Given the description of an element on the screen output the (x, y) to click on. 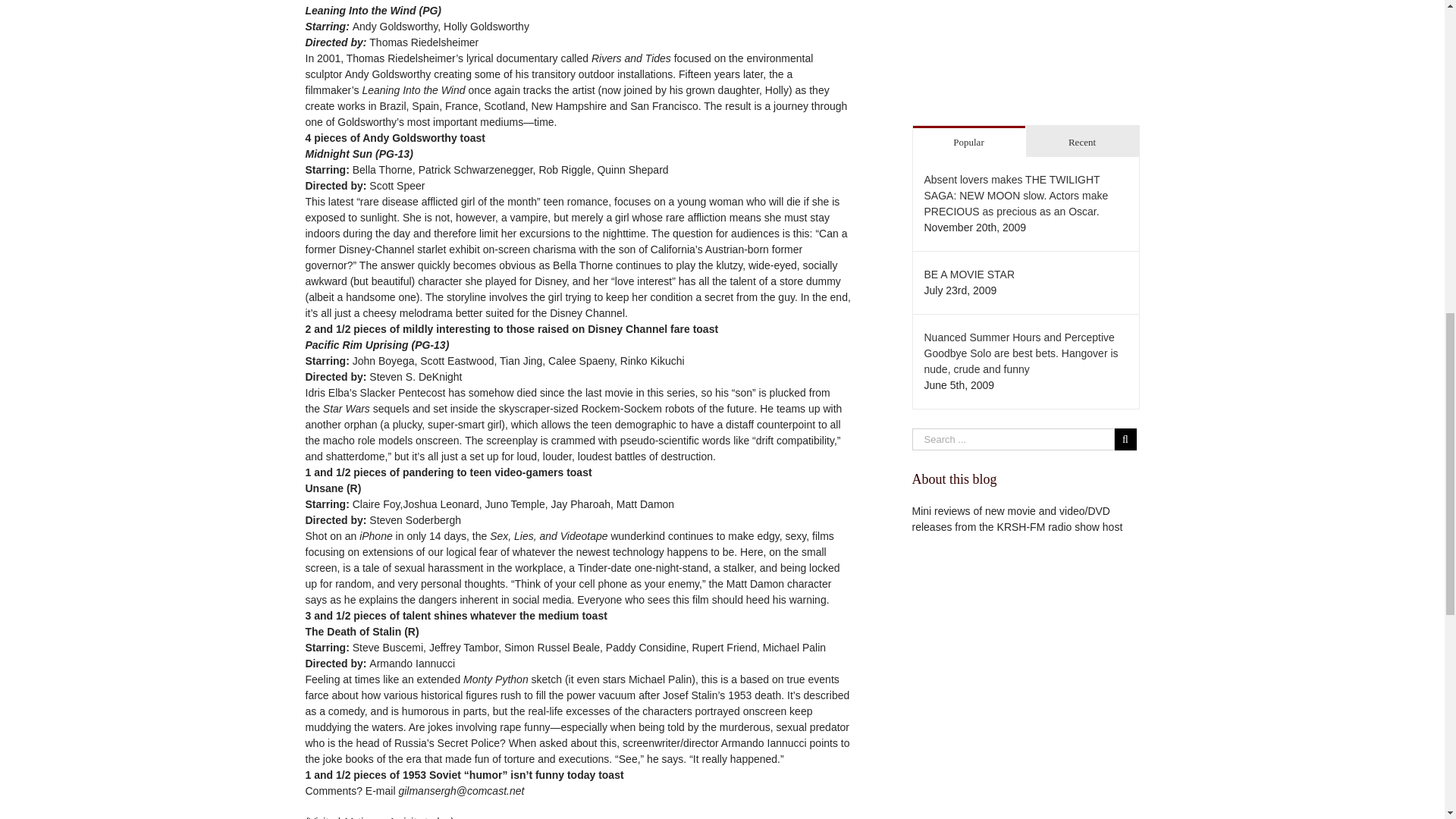
3rd party ad content (1024, 53)
3rd party ad content (1024, 692)
